Given the description of an element on the screen output the (x, y) to click on. 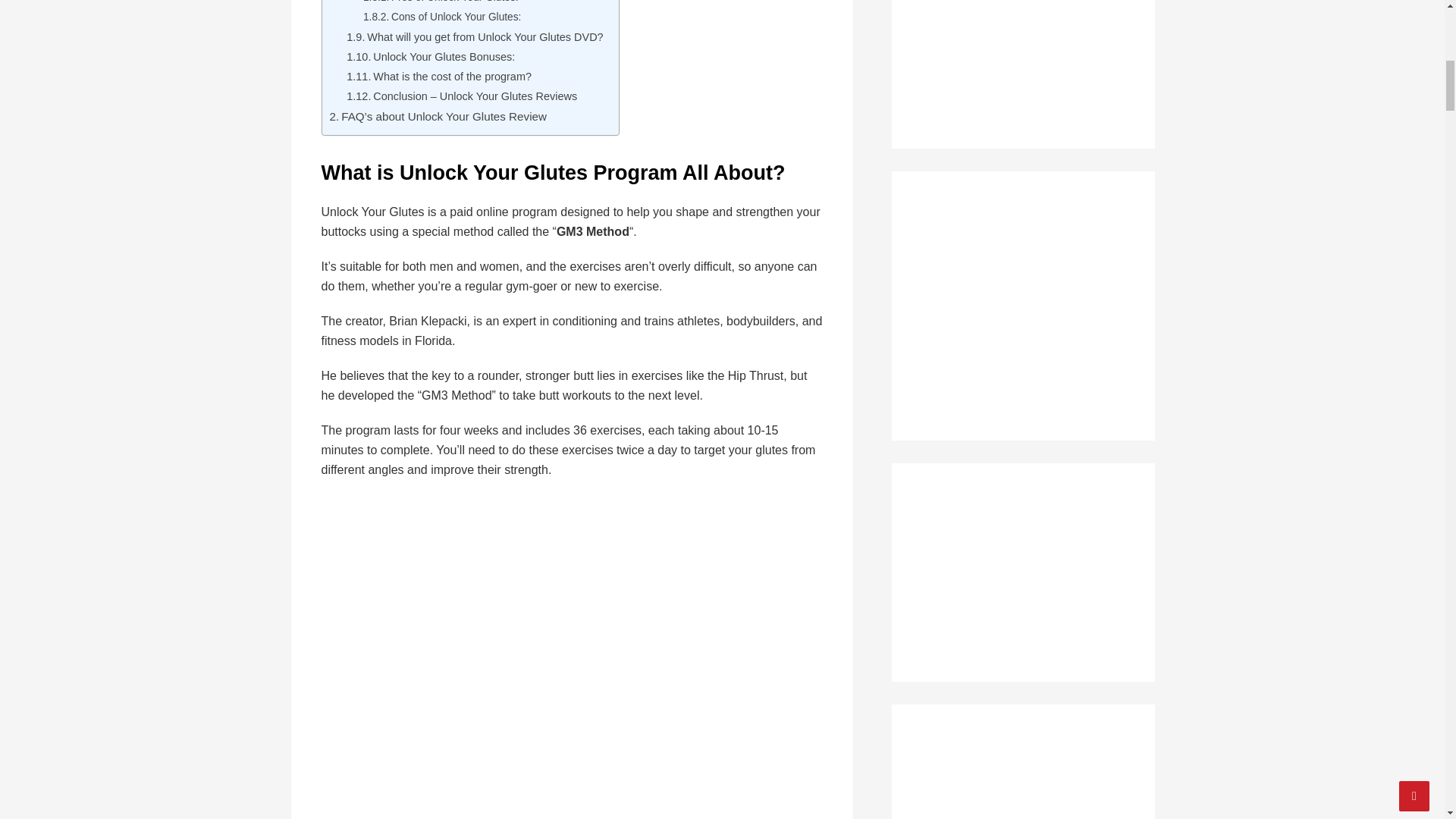
Cons of Unlock Your Glutes: (441, 17)
What is the cost of the program? (438, 76)
What will you get from Unlock Your Glutes DVD? (474, 36)
Pros of Unlock Your Glutes: (440, 2)
Pros of Unlock Your Glutes: (440, 2)
Unlock Your Glutes Bonuses: (430, 57)
Cons of Unlock Your Glutes: (441, 17)
